Given the description of an element on the screen output the (x, y) to click on. 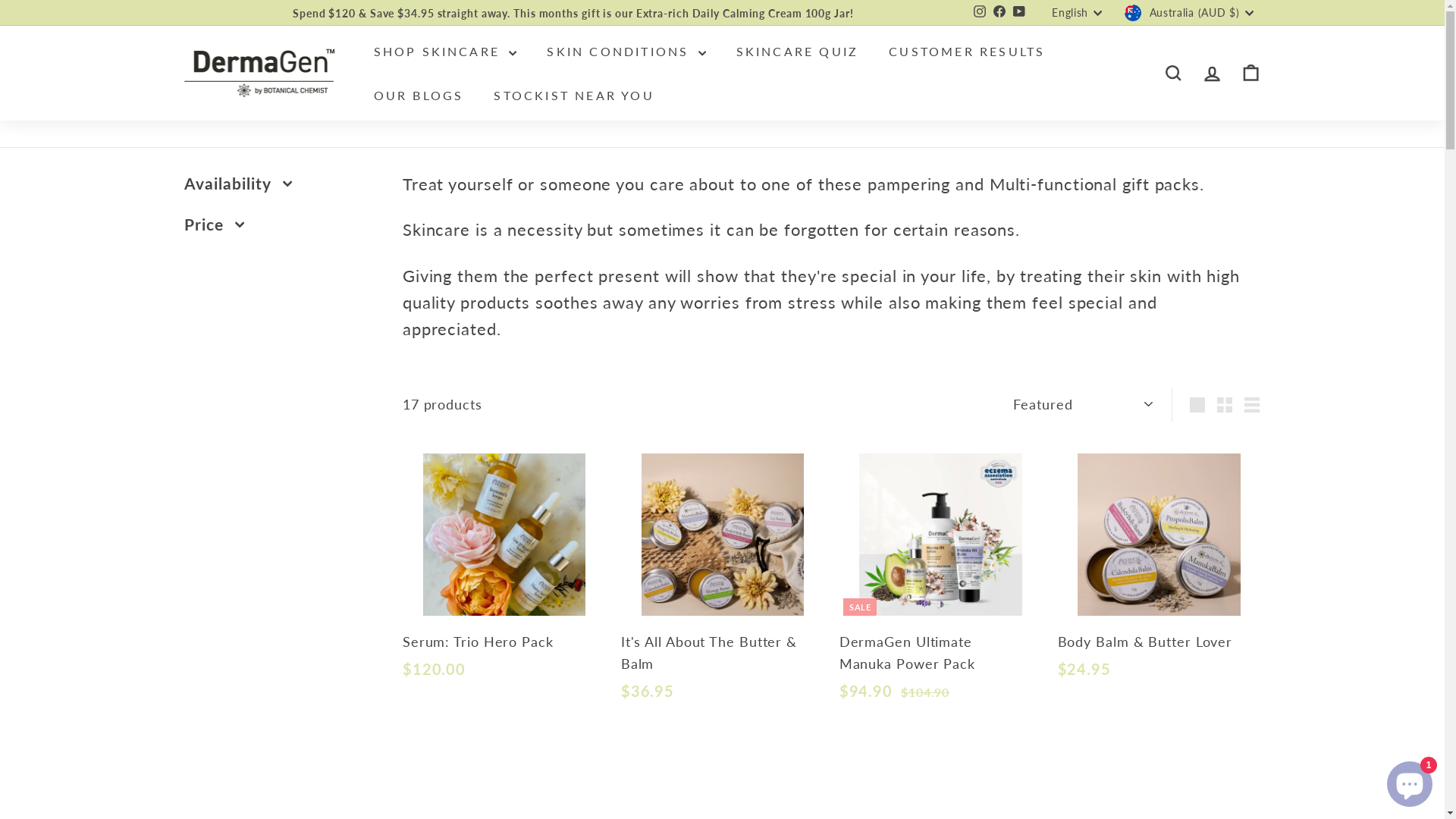
SEARCH Element type: text (1173, 72)
OUR BLOGS Element type: text (417, 95)
YouTube Element type: text (1019, 12)
List Element type: text (1251, 404)
English Element type: text (1080, 12)
Small Element type: text (1224, 404)
CART Element type: text (1250, 72)
SKINCARE QUIZ Element type: text (797, 51)
Facebook Element type: text (999, 12)
Body Balm & Butter Lover
$24.95 Element type: text (1159, 574)
It's All About The Butter & Balm
$36.95 Element type: text (722, 585)
STOCKIST NEAR YOU Element type: text (573, 95)
Shopify online store chat Element type: hover (1409, 780)
Serum: Trio Hero Pack
$120.00 Element type: text (503, 574)
Availability Element type: text (280, 186)
Australia (AUD $) Element type: text (1192, 12)
Large Element type: text (1197, 404)
Price Element type: text (280, 227)
instagram
Instagram Element type: text (979, 12)
ACCOUNT Element type: text (1211, 72)
CUSTOMER RESULTS Element type: text (966, 51)
